Given the description of an element on the screen output the (x, y) to click on. 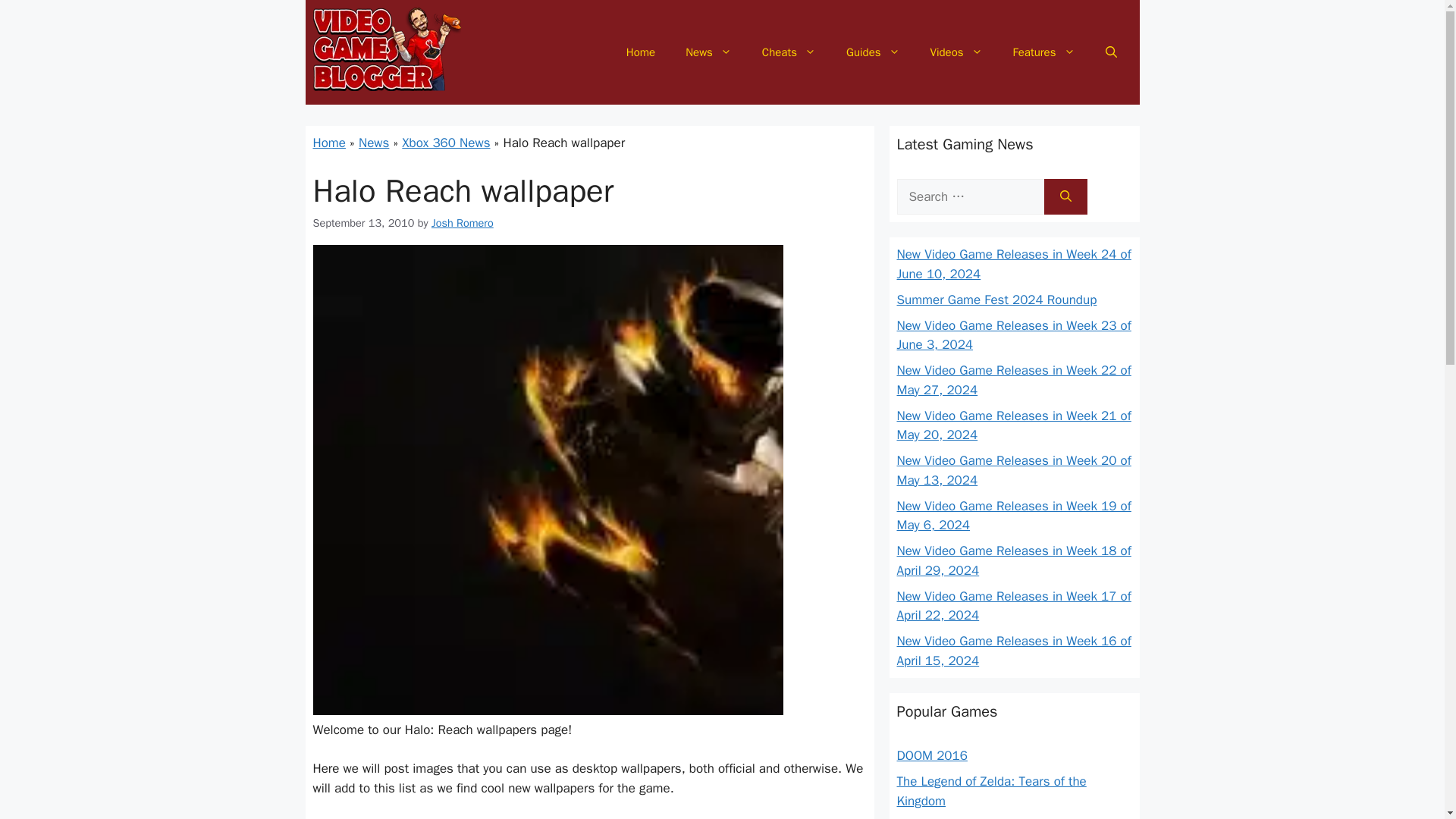
Video Games Blogger Homepage (640, 52)
Video Game News (707, 52)
Cheats (788, 52)
News (707, 52)
Home (640, 52)
Guides (873, 52)
Video Game Cheats (788, 52)
